Given the description of an element on the screen output the (x, y) to click on. 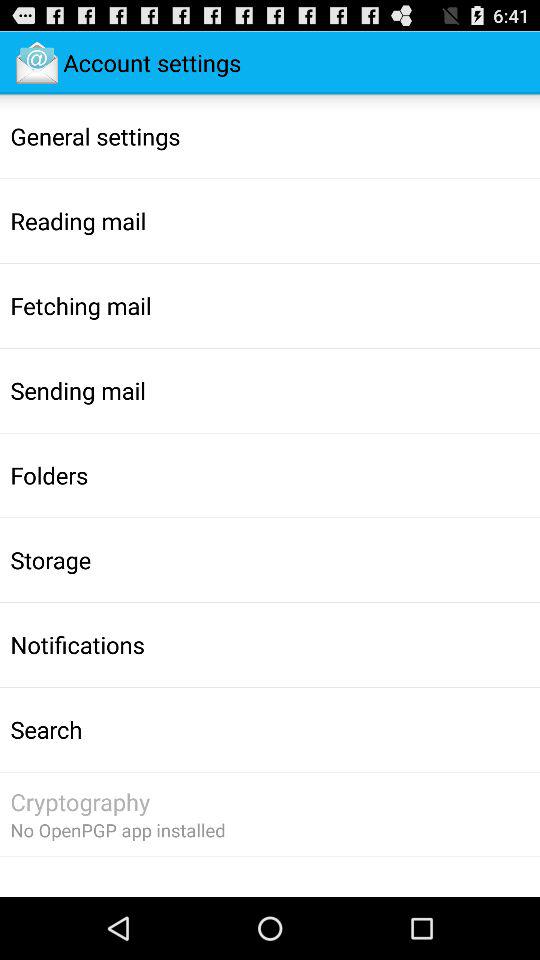
choose the fetching mail item (80, 305)
